Given the description of an element on the screen output the (x, y) to click on. 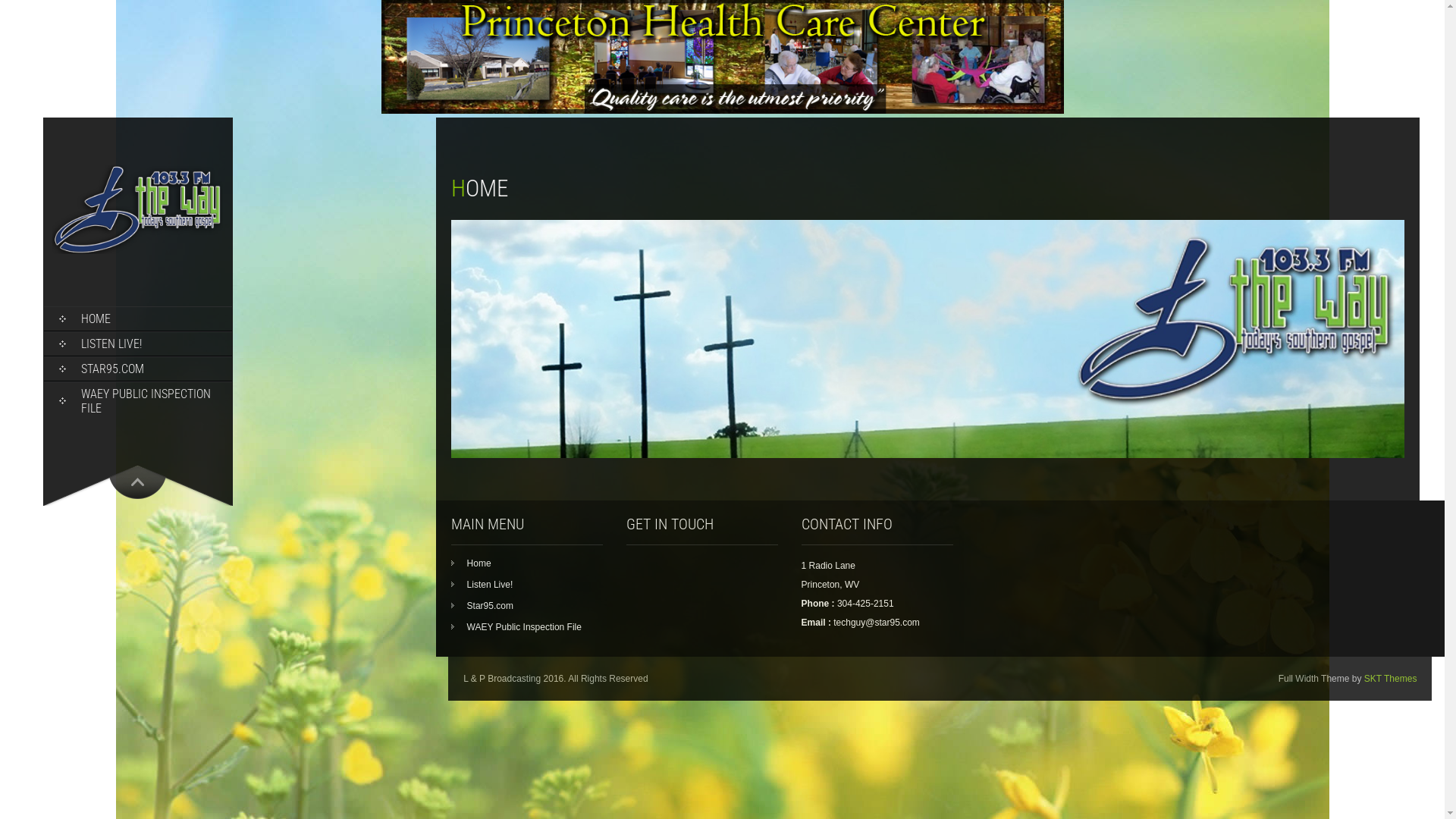
Home Element type: text (471, 563)
STAR95.COM Element type: text (137, 368)
SKIP TO CONTENT Element type: text (87, 313)
HOME Element type: text (137, 318)
SKT Themes Element type: text (1390, 678)
Listen Live! Element type: text (482, 584)
WAEY PUBLIC INSPECTION FILE Element type: text (137, 401)
WAEY Public Inspection File Element type: text (516, 626)
LISTEN LIVE! Element type: text (137, 343)
Star95.com Element type: text (482, 605)
